Given the description of an element on the screen output the (x, y) to click on. 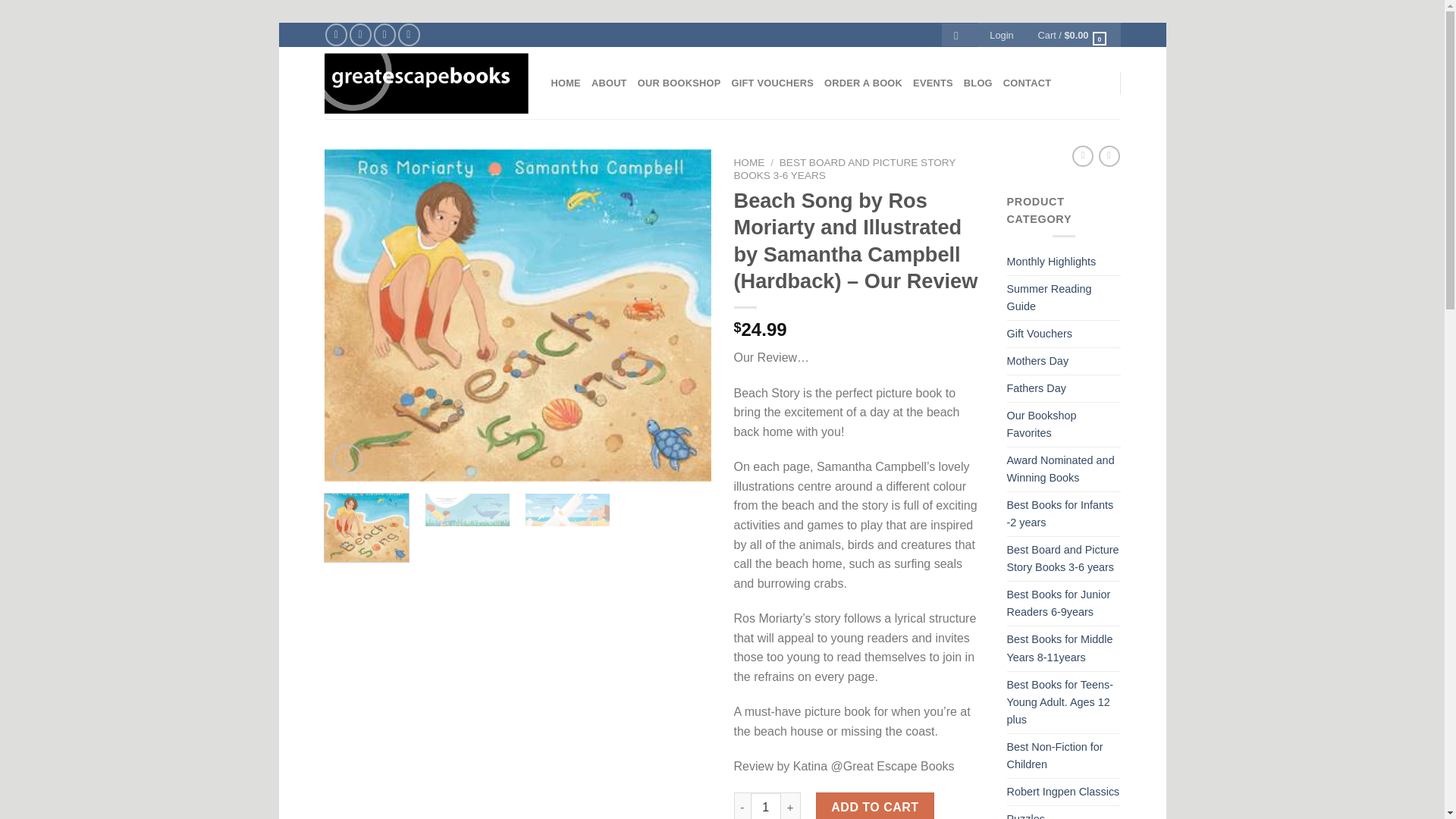
Zoom (347, 459)
Follow on Facebook (335, 34)
OUR BOOKSHOP (678, 83)
HOME (564, 83)
Follow on Instagram (360, 34)
Call us (408, 34)
GIFT VOUCHERS (771, 83)
- (742, 805)
1 (765, 805)
Send us an email (385, 34)
Great Escape Books - Great Ocean Road, Aireys Inlet (426, 83)
HOME (749, 162)
ABOUT (609, 83)
